Given the description of an element on the screen output the (x, y) to click on. 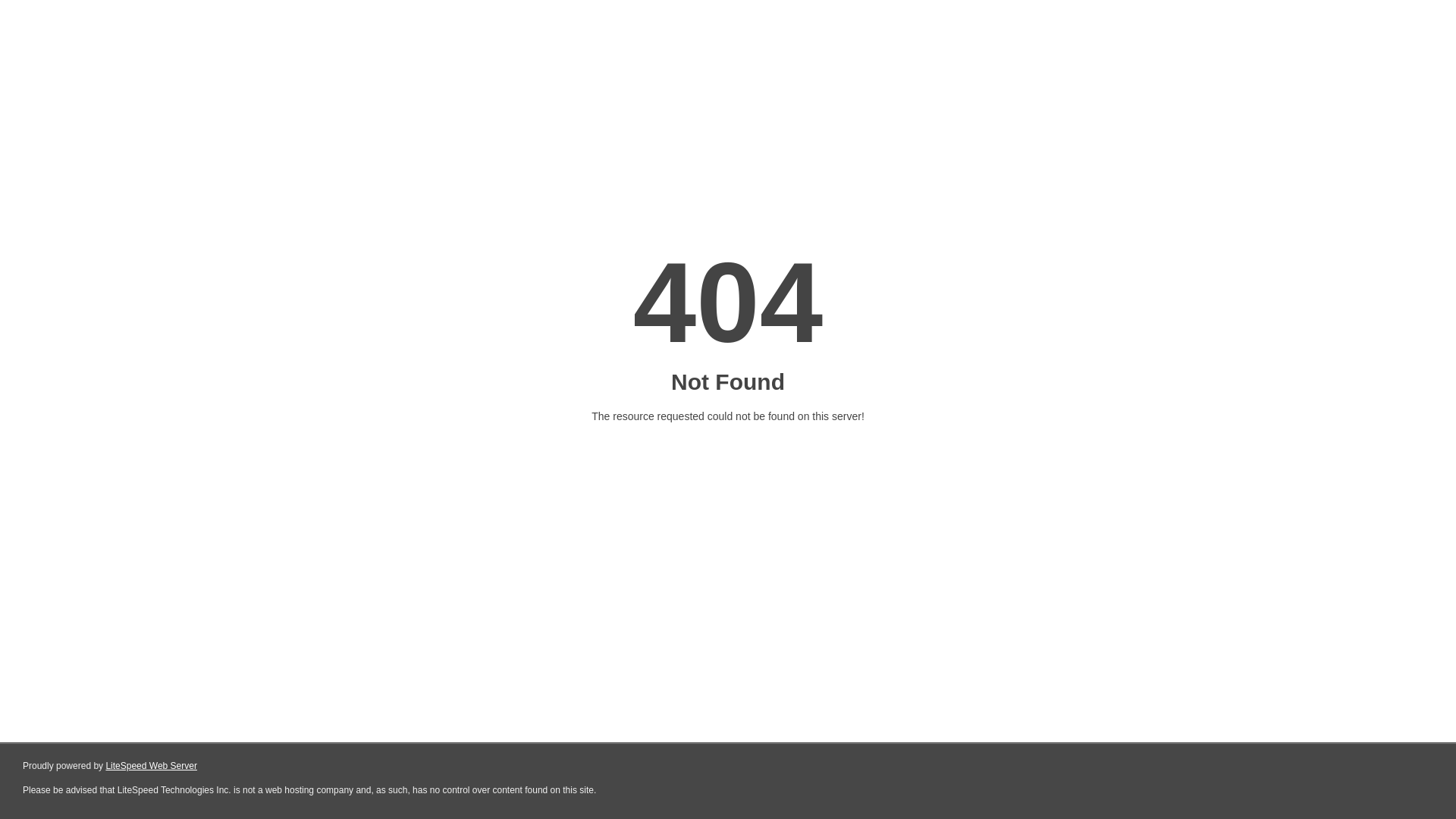
LiteSpeed Web Server Element type: text (151, 765)
